Given the description of an element on the screen output the (x, y) to click on. 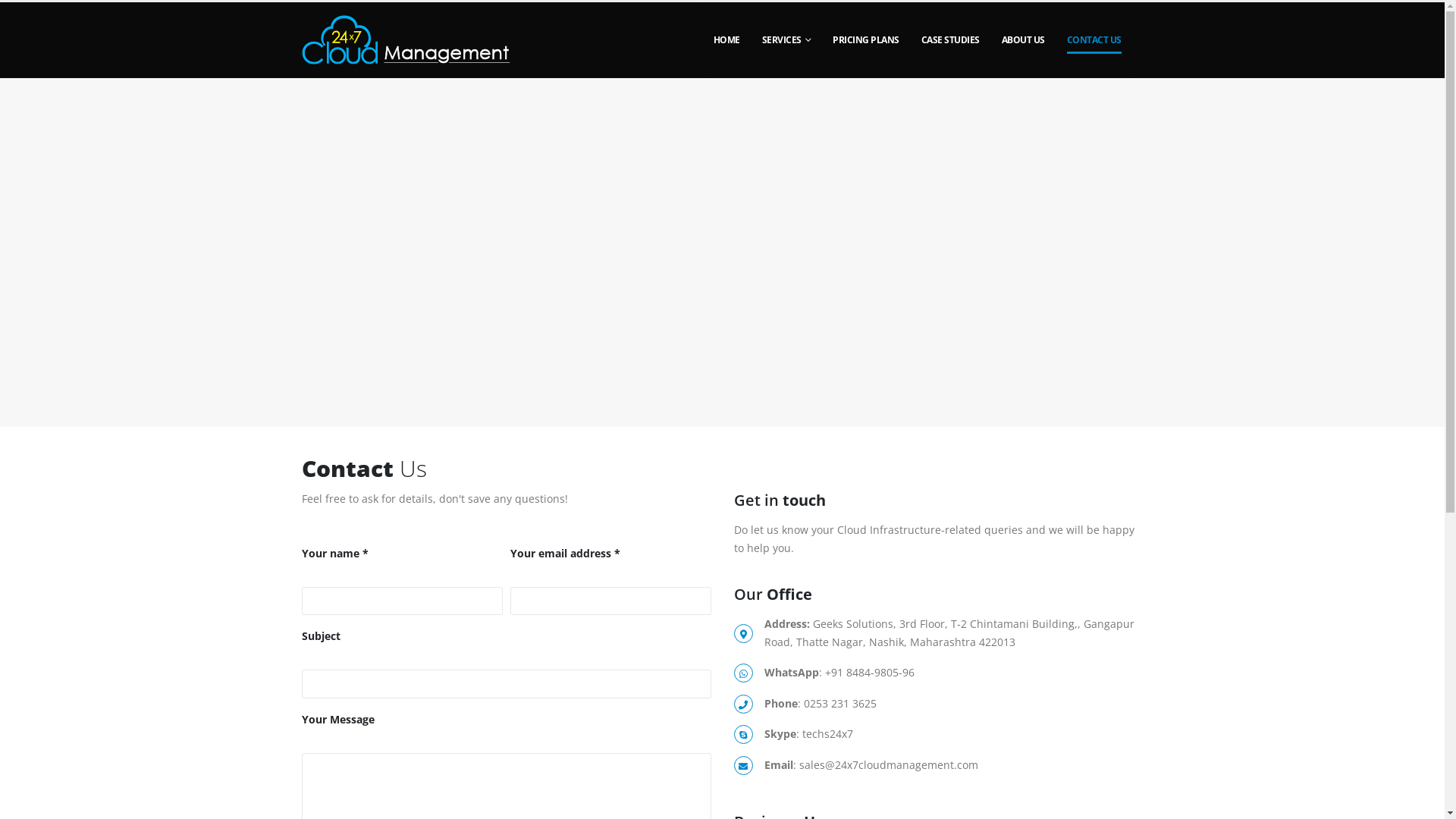
SERVICES Element type: text (785, 40)
PRICING PLANS Element type: text (866, 40)
HOME Element type: text (725, 40)
CONTACT US Element type: text (1093, 40)
CASE STUDIES Element type: text (949, 40)
ABOUT US Element type: text (1022, 40)
